Given the description of an element on the screen output the (x, y) to click on. 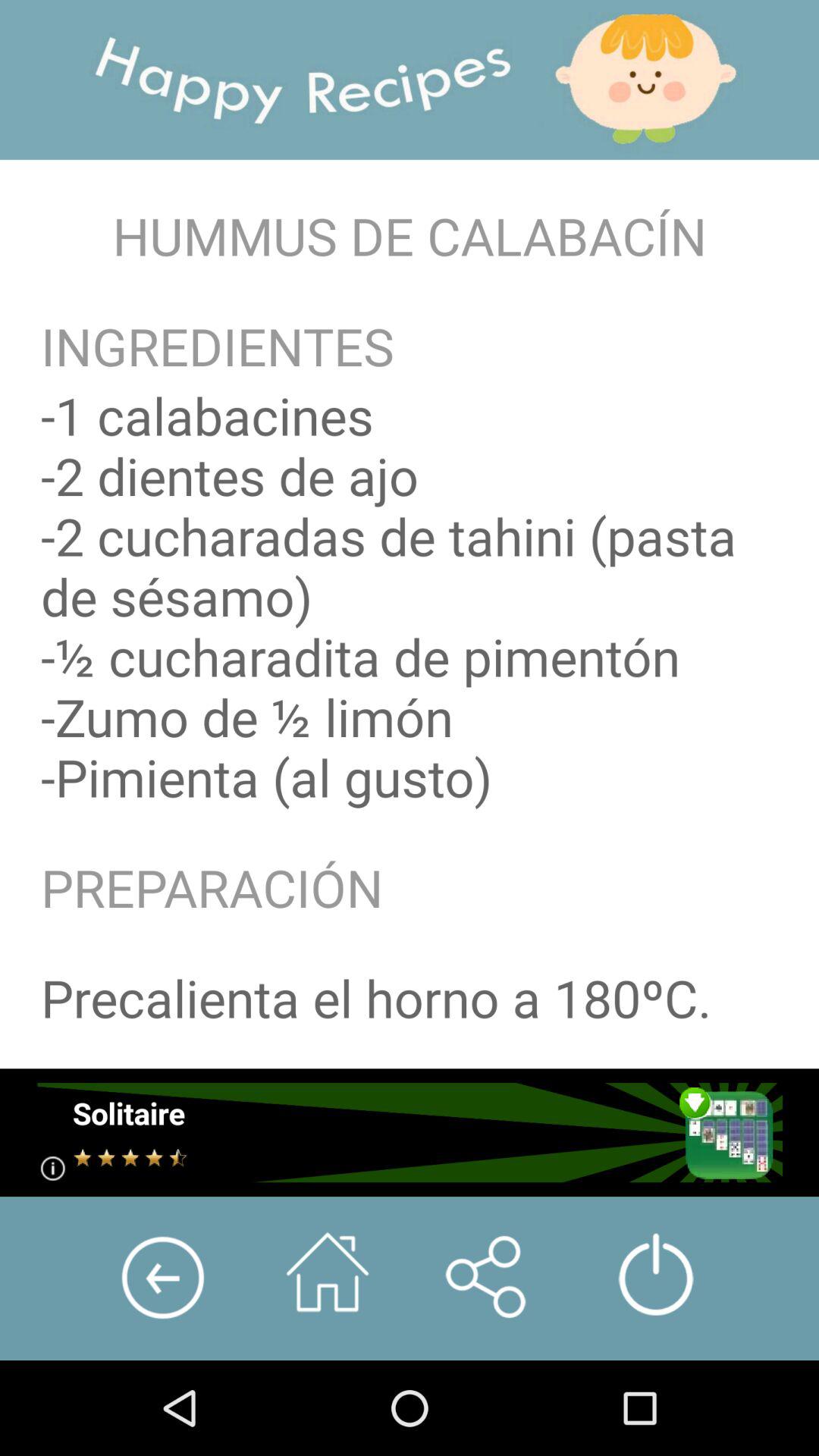
select the app below precalienta el horno app (408, 1132)
